Given the description of an element on the screen output the (x, y) to click on. 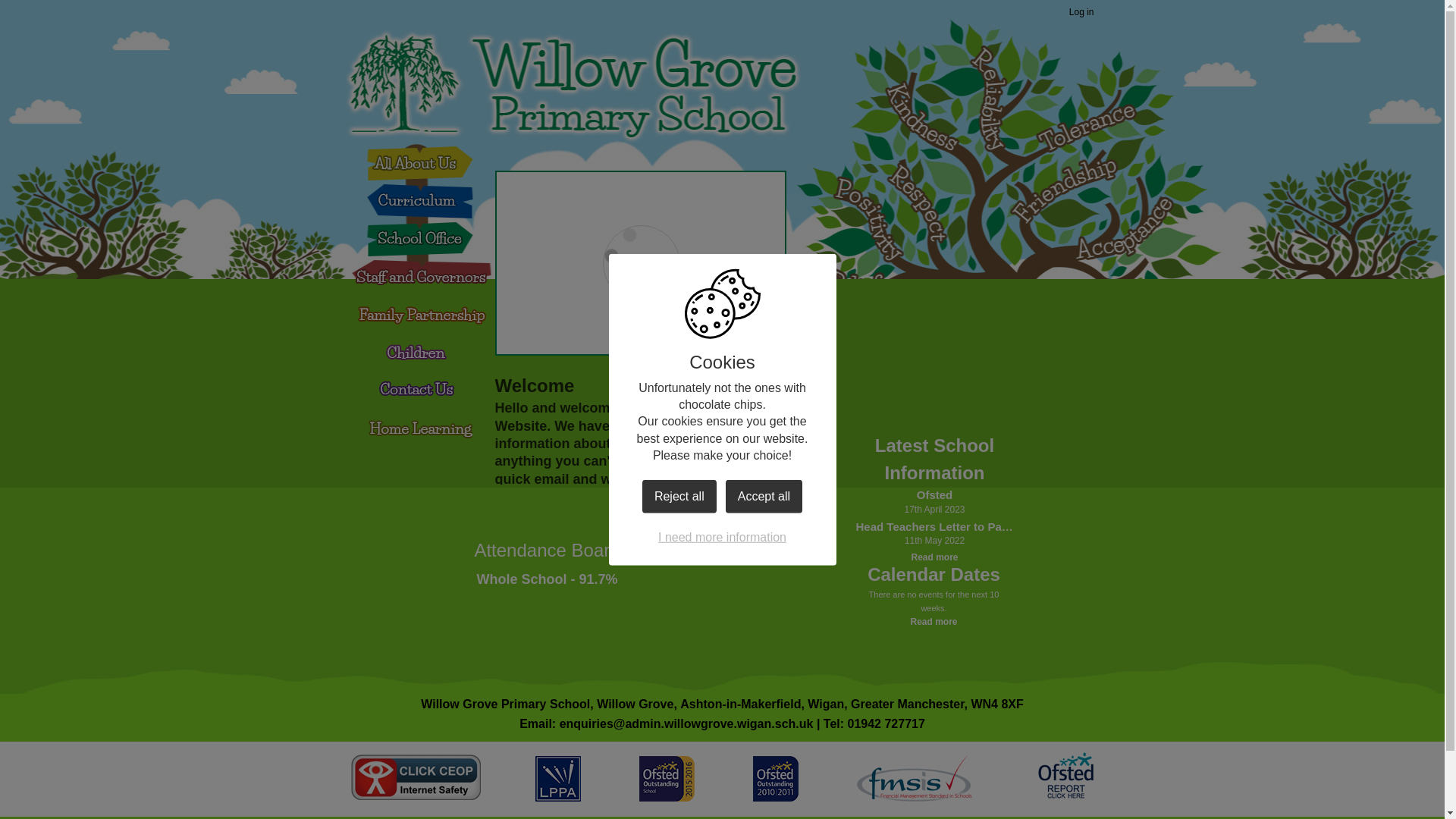
Read more (934, 621)
Calendar Dates (934, 574)
Log in (1081, 12)
Read more (934, 557)
All About Us (418, 162)
Latest School Information (934, 459)
Head Teachers Letter to Parents 11th May 2022 (934, 527)
Curriculum (412, 206)
Ofsted (934, 495)
